Given the description of an element on the screen output the (x, y) to click on. 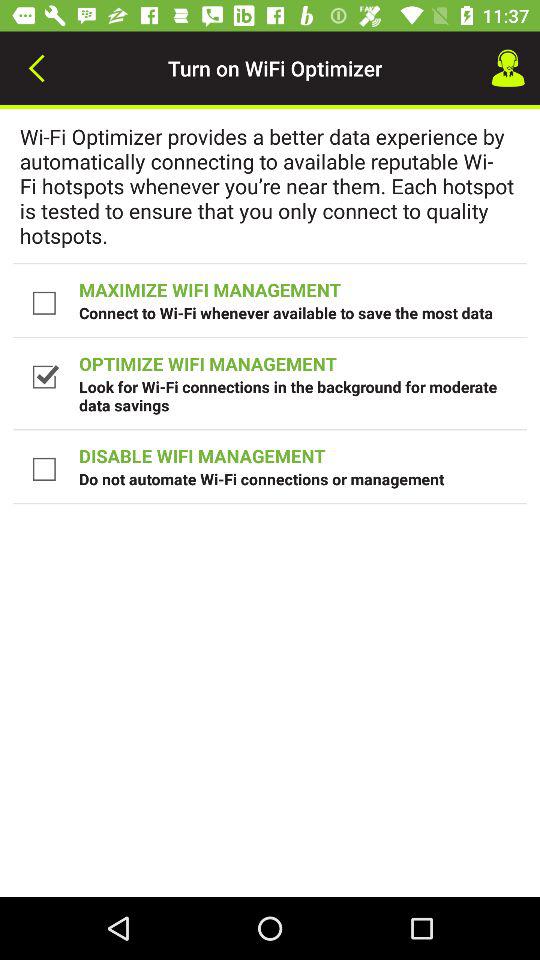
choose the icon to the left of the maximize wifi management (46, 302)
